Given the description of an element on the screen output the (x, y) to click on. 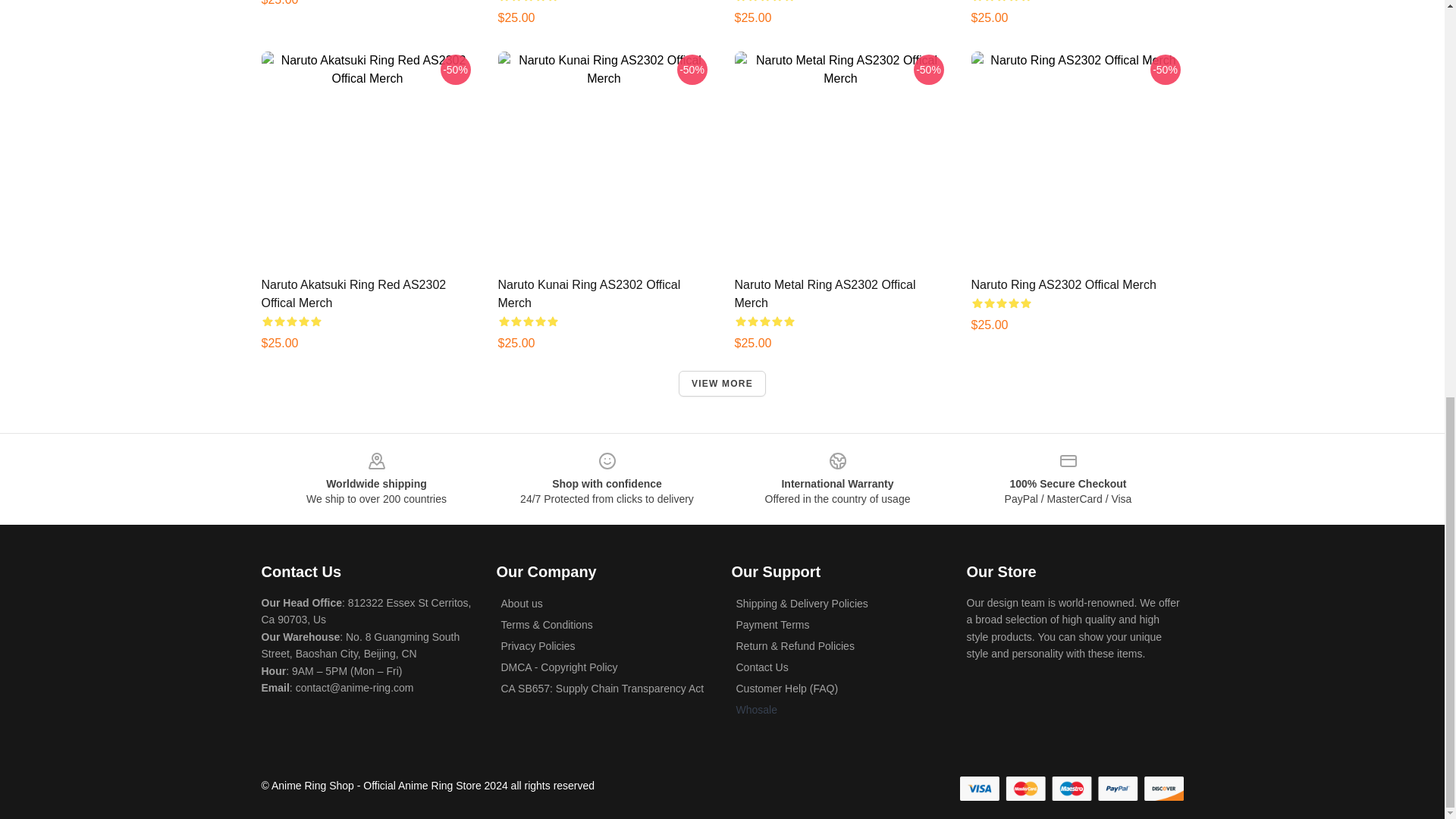
Naruto Metal Ring AS2302 Offical Merch (824, 293)
Naruto Kunai Ring AS2302 Offical Merch (588, 293)
Naruto Akatsuki Ring Red AS2302 Offical Merch (352, 293)
